Given the description of an element on the screen output the (x, y) to click on. 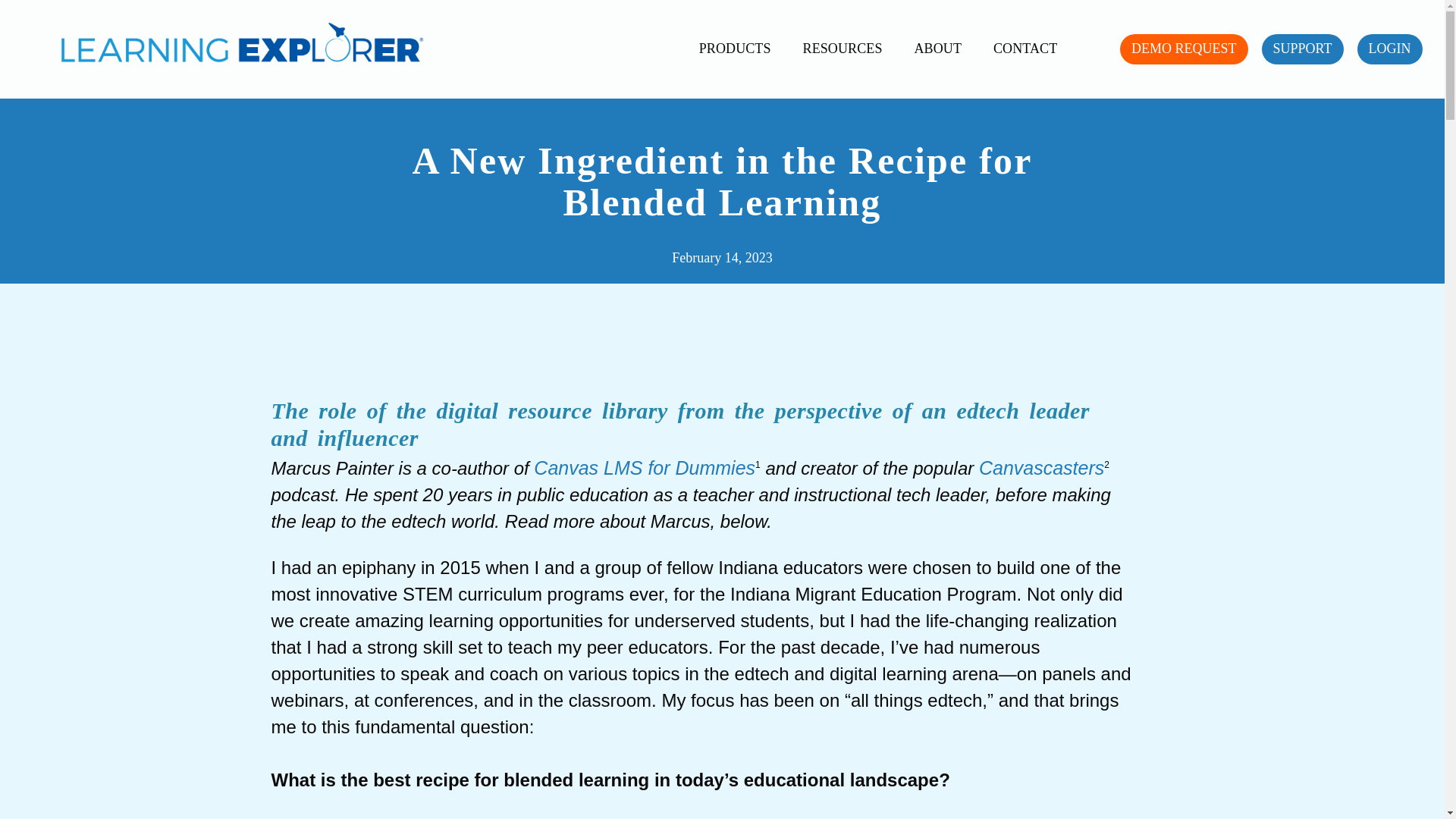
ABOUT (938, 48)
DEMO REQUEST (1183, 49)
RESOURCES (842, 48)
SUPPORT (1302, 49)
Canvascasters (1040, 467)
CONTACT (1024, 48)
LOGIN (1389, 49)
Canvas LMS for Dummies (644, 467)
February 14, 2023 (721, 258)
PRODUCTS (734, 48)
